Given the description of an element on the screen output the (x, y) to click on. 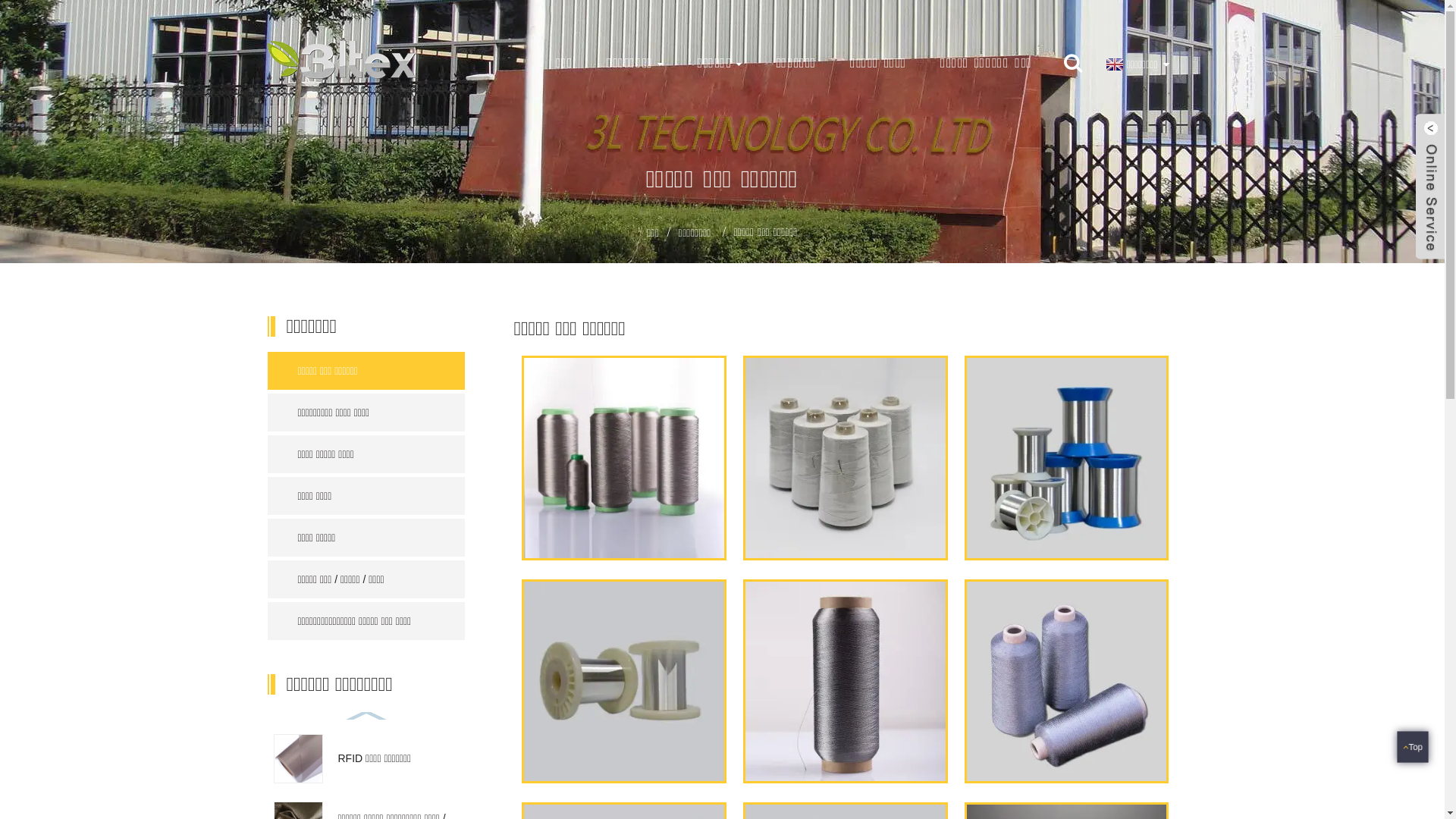
stainless steel monofilament/microfilaments Element type: hover (1066, 457)
stainless steel filaments yarn/thread Element type: hover (845, 680)
extra fine silver plated wire Element type: hover (624, 680)
RFID tags conductive wire Element type: hover (845, 457)
stainless steel fiber spun yarn Element type: hover (1066, 680)
Silver coated polyamide conductive yarn Element type: hover (624, 457)
